Given the description of an element on the screen output the (x, y) to click on. 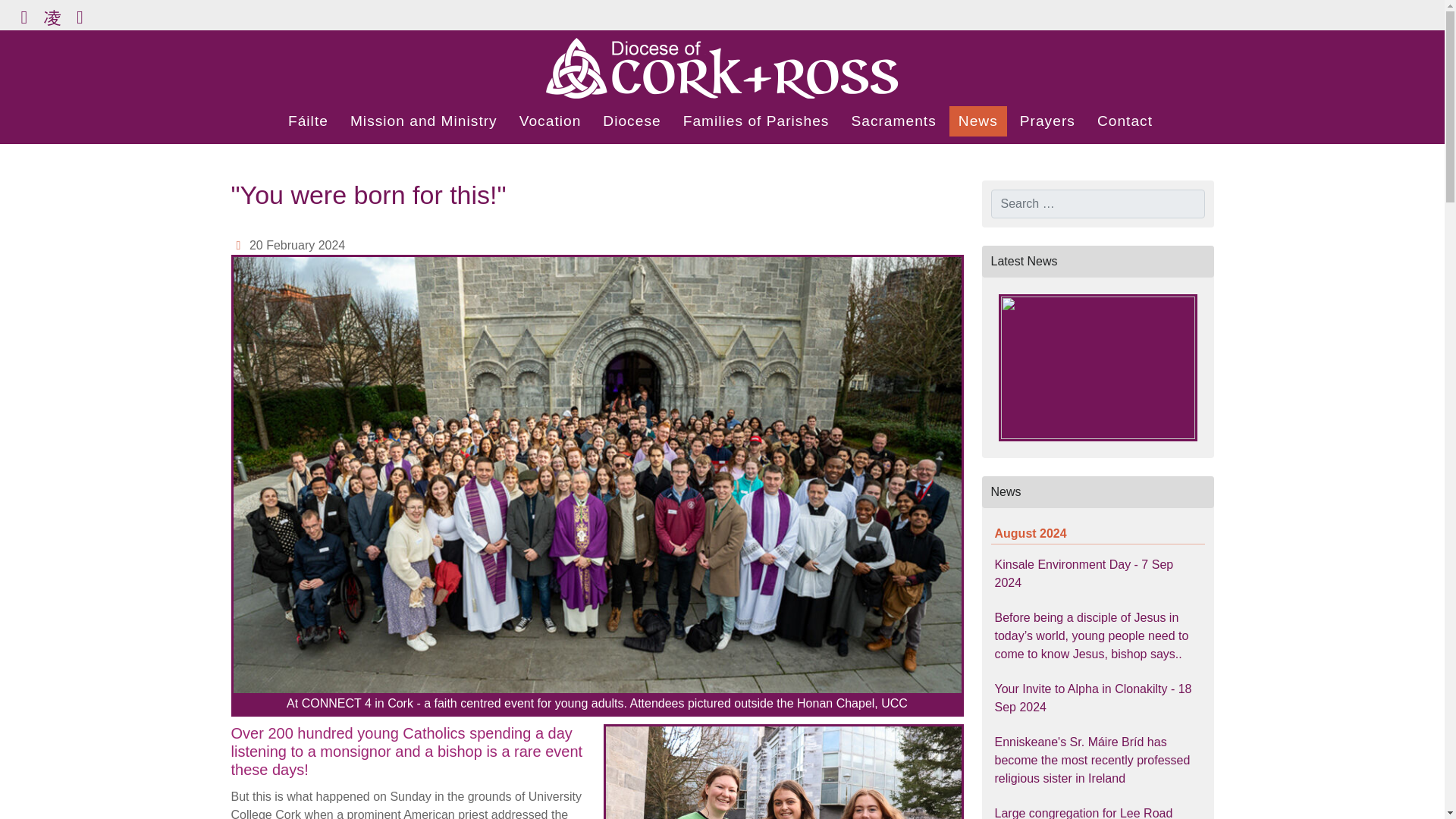
subscribe to us on YouTube (79, 16)
follow us on Instagram (52, 16)
Vocation (551, 121)
Mission and Ministry (423, 121)
like us on Facebook (23, 16)
Diocese (631, 121)
